Given the description of an element on the screen output the (x, y) to click on. 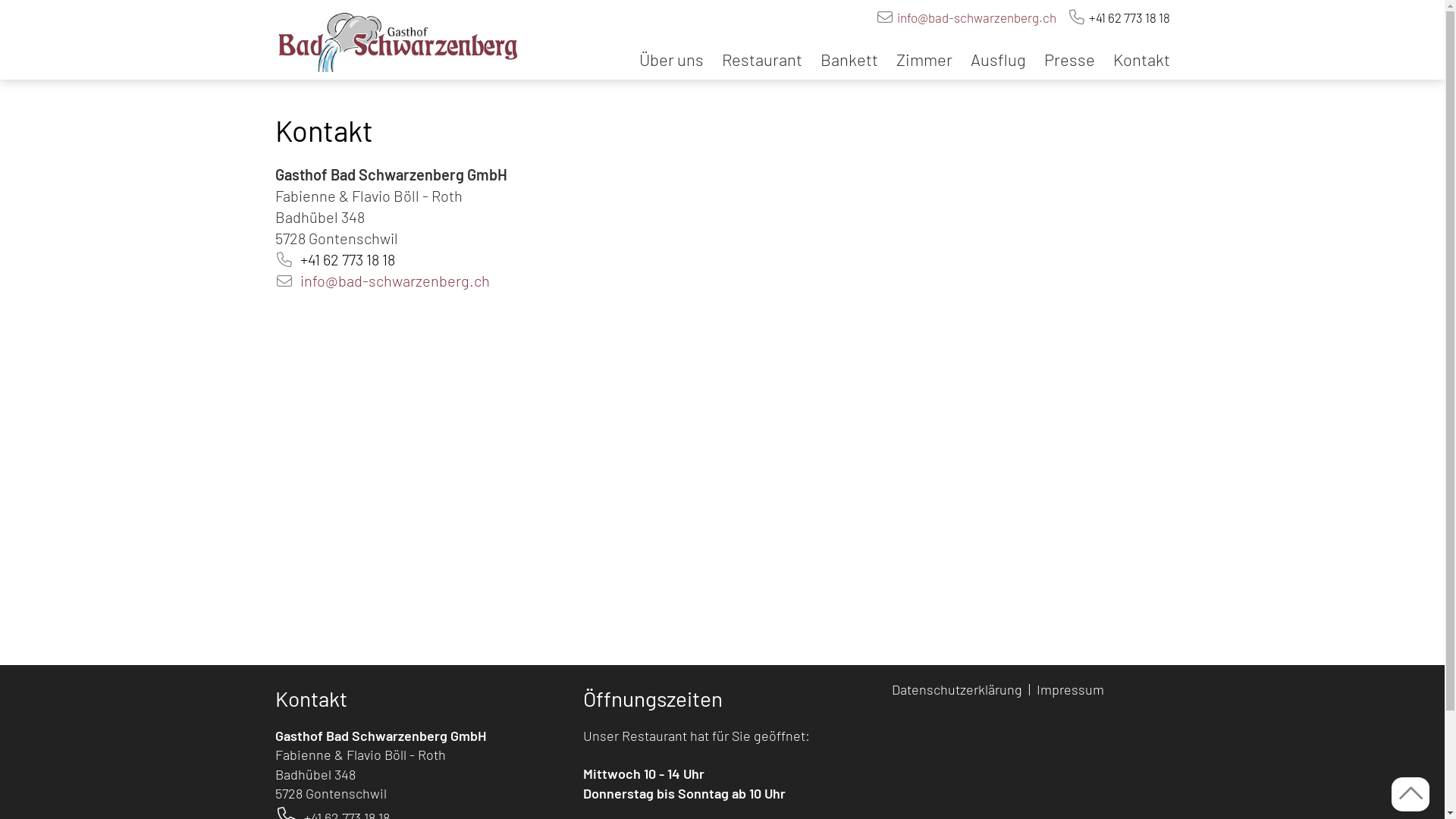
Restaurant Element type: text (761, 59)
Kontakt Element type: text (1137, 59)
Zimmer Element type: text (924, 59)
Presse Element type: text (1068, 59)
info@bad-schwarzenberg.ch Element type: text (975, 17)
+41 62 773 18 18 Element type: text (1129, 17)
info@bad-schwarzenberg.ch Element type: text (394, 280)
Impressum  Element type: text (1071, 688)
Ausflug Element type: text (998, 59)
Bankett Element type: text (849, 59)
+41 62 773 18 18 Element type: text (347, 259)
